Given the description of an element on the screen output the (x, y) to click on. 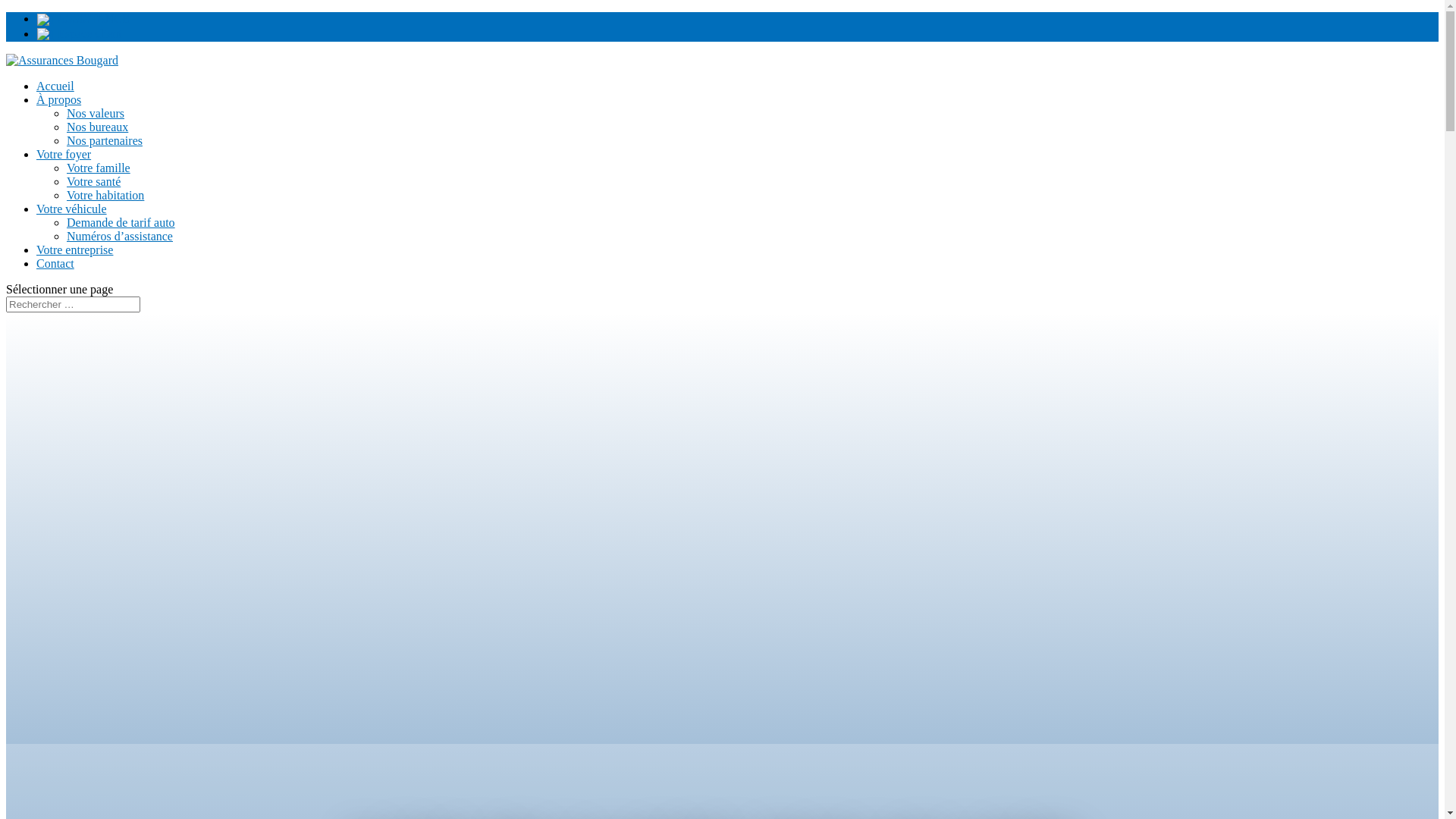
Votre entreprise Element type: text (74, 249)
Contact Element type: text (55, 263)
Rechercher: Element type: hover (73, 304)
Espace client Element type: text (79, 33)
Votre famille Element type: text (98, 167)
ASSISTANCE Element type: text (82, 18)
Accueil Element type: text (55, 85)
Nos bureaux Element type: text (97, 126)
Demande de tarif auto Element type: text (120, 222)
Votre habitation Element type: text (105, 194)
Nos valeurs Element type: text (95, 112)
Votre foyer Element type: text (63, 153)
Nos partenaires Element type: text (104, 140)
